Given the description of an element on the screen output the (x, y) to click on. 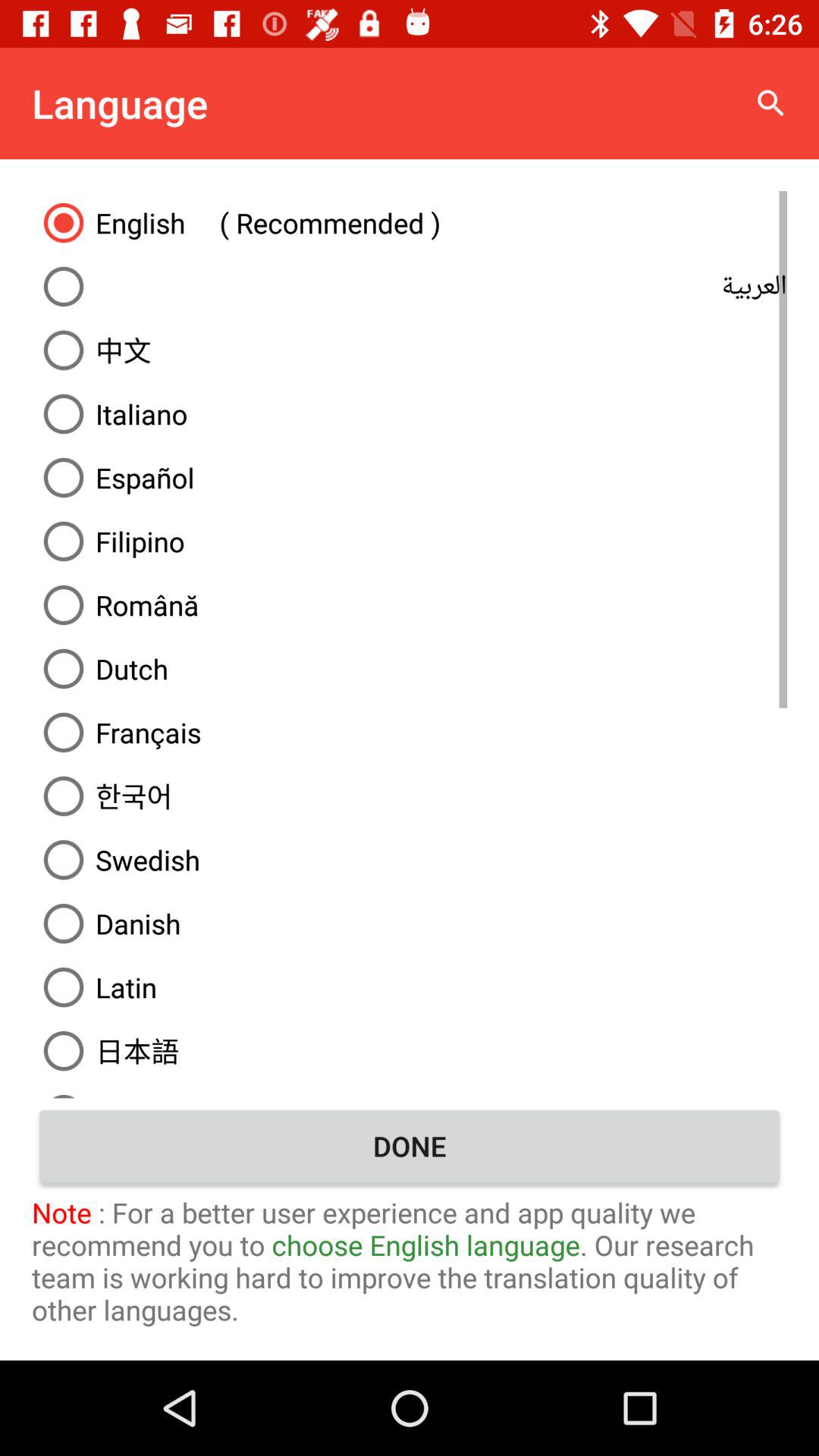
select item to the right of the language (771, 103)
